Given the description of an element on the screen output the (x, y) to click on. 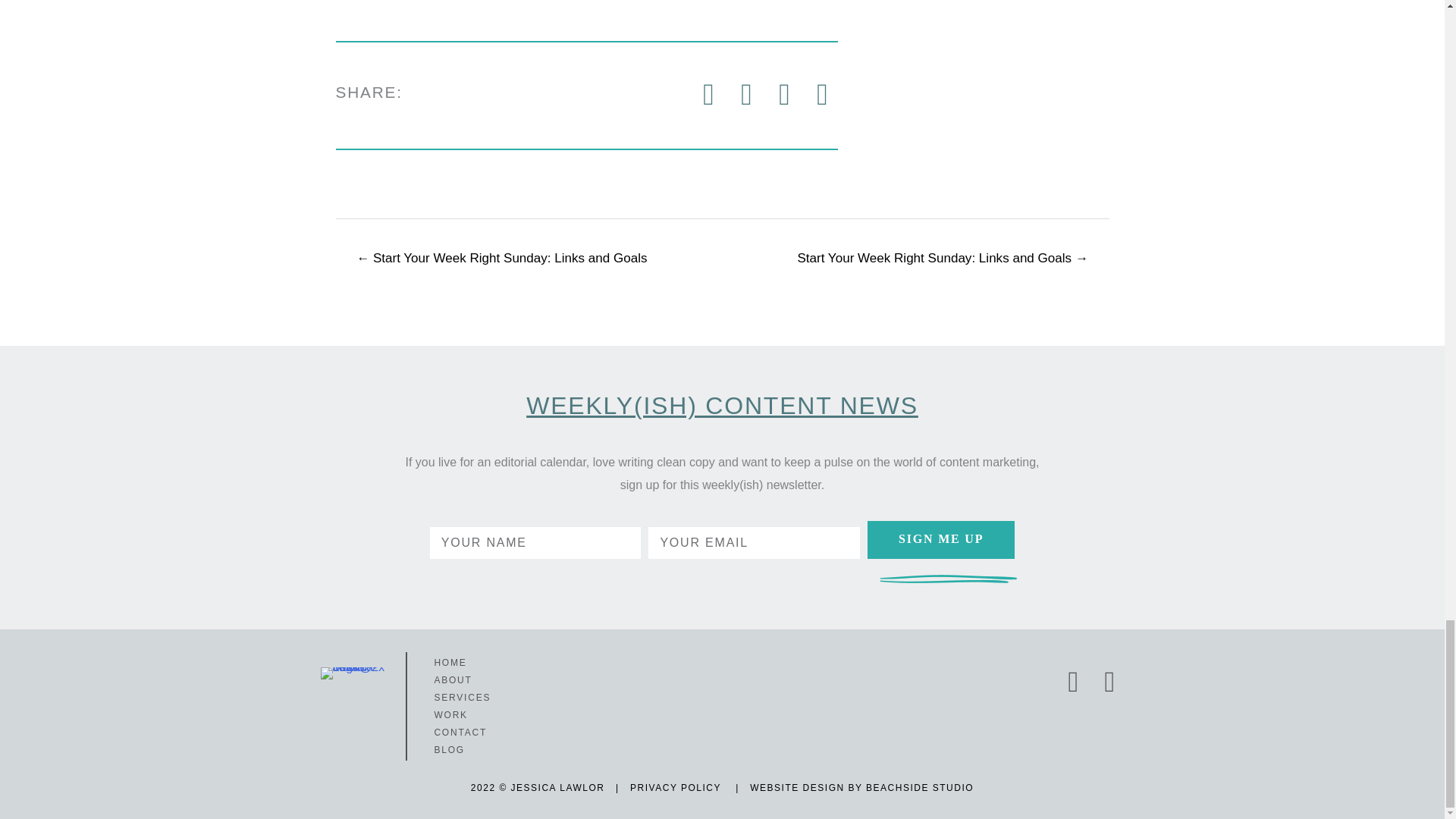
SIGN ME UP (940, 539)
ABOUT (525, 680)
HOME (525, 662)
